Given the description of an element on the screen output the (x, y) to click on. 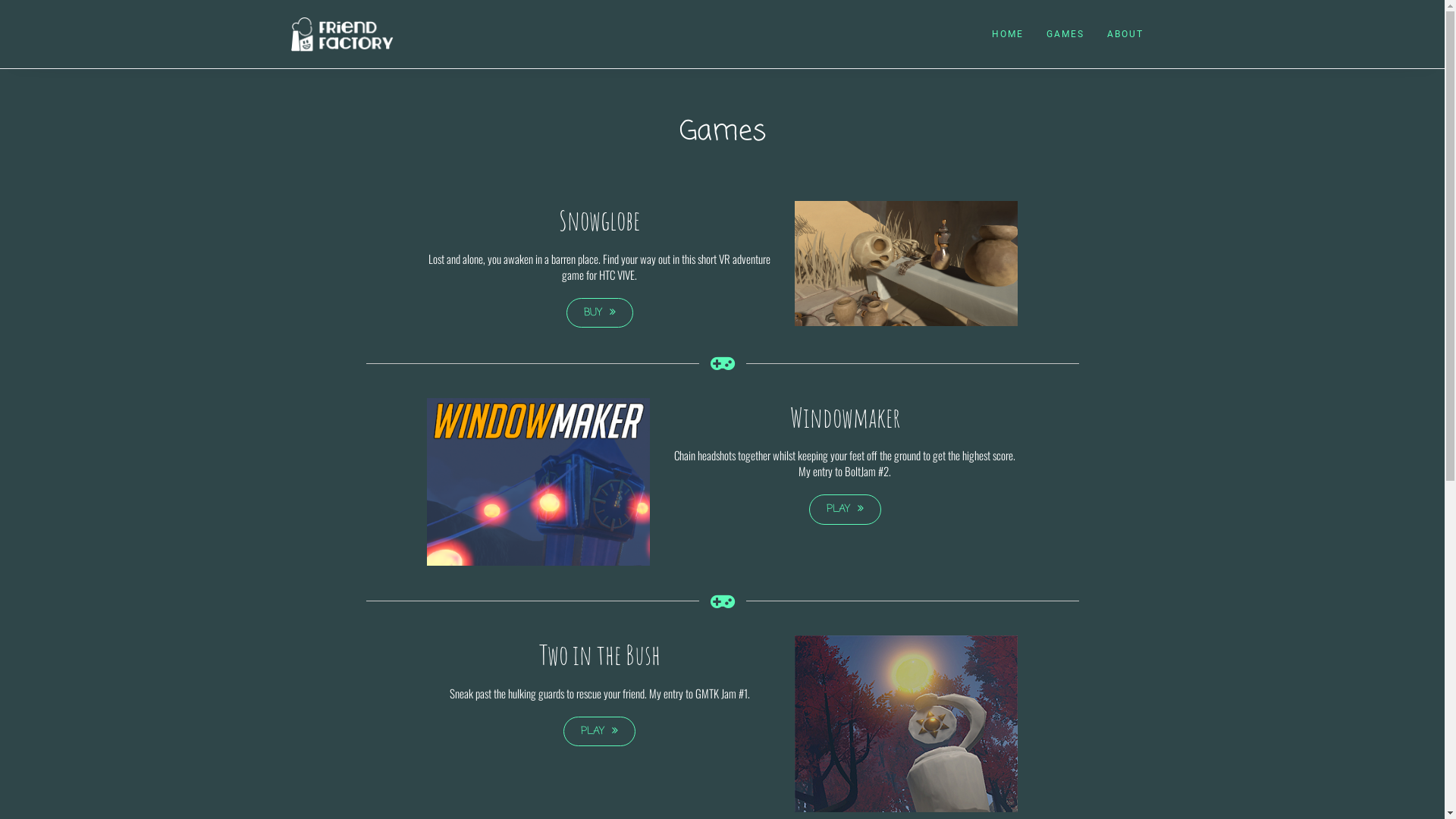
PLAY Element type: text (599, 731)
GAMES Element type: text (1064, 34)
ABOUT Element type: text (1124, 34)
HOME Element type: text (1006, 34)
BUY Element type: text (599, 313)
PLAY Element type: text (845, 509)
